Given the description of an element on the screen output the (x, y) to click on. 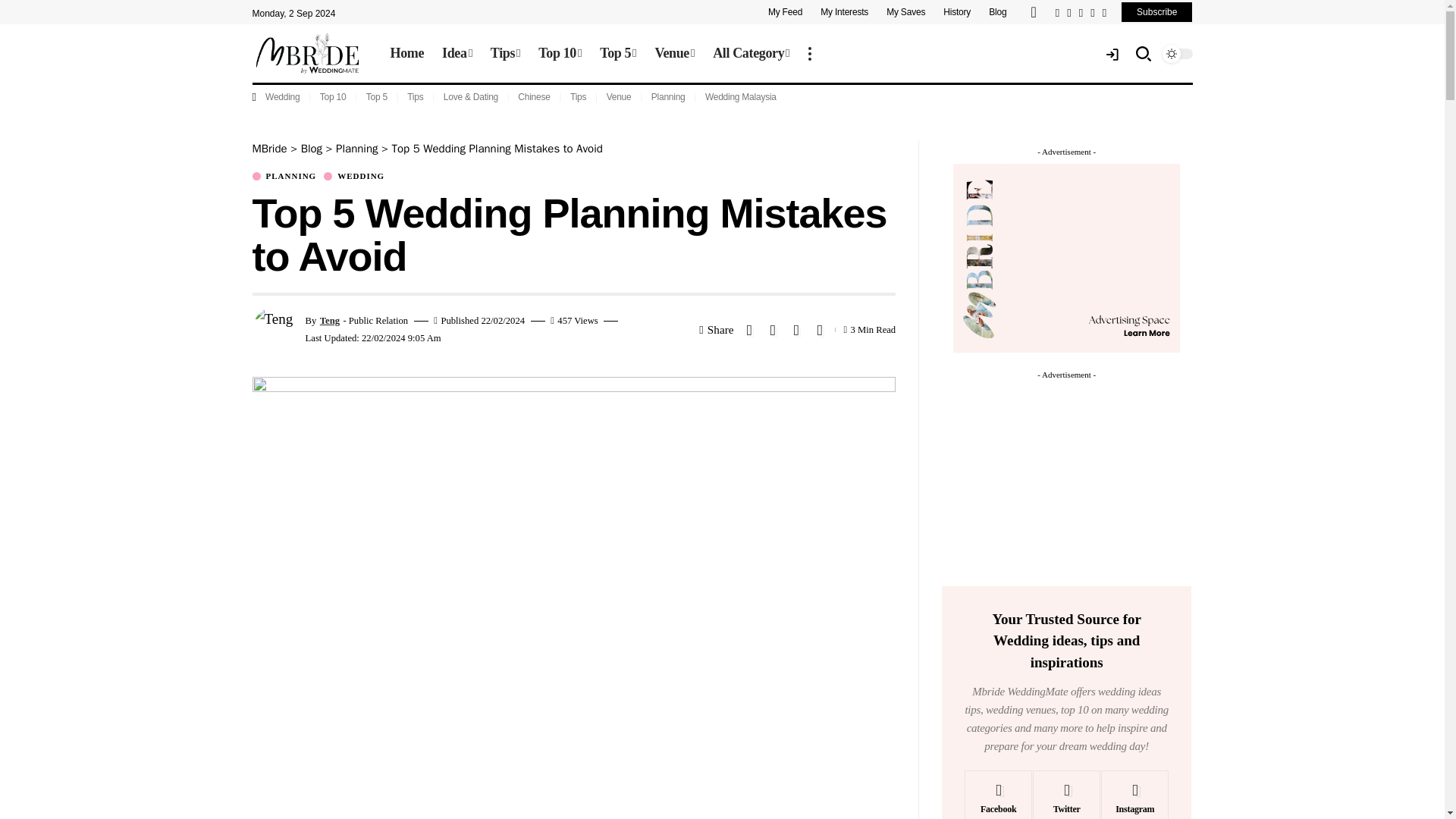
History (956, 11)
Blog (996, 11)
My Saves (905, 11)
My Interests (843, 11)
Home (406, 54)
Subscribe (1156, 12)
My Feed (789, 11)
Idea (456, 54)
